Given the description of an element on the screen output the (x, y) to click on. 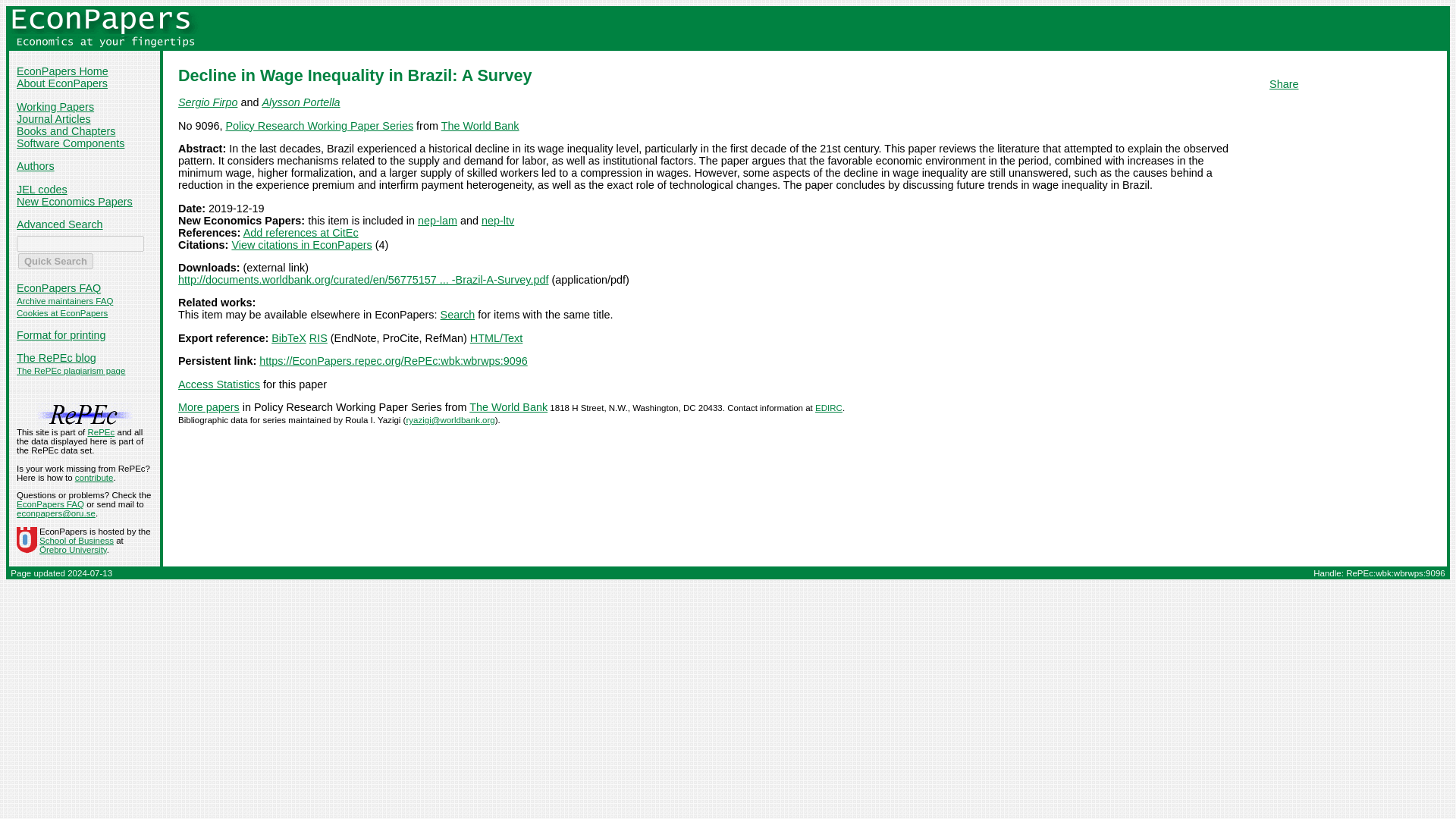
Share (1283, 83)
JEL codes (41, 189)
The World Bank (480, 125)
Alysson Portella (300, 102)
Journal Articles (53, 119)
RePEc (101, 431)
About EconPapers (61, 82)
Format for printing (61, 335)
nep-lam (437, 220)
contribute (94, 477)
EDIRC (829, 407)
View citations in EconPapers (301, 244)
More papers (208, 407)
Cookies at EconPapers (61, 312)
Add references at CitEc (300, 232)
